Given the description of an element on the screen output the (x, y) to click on. 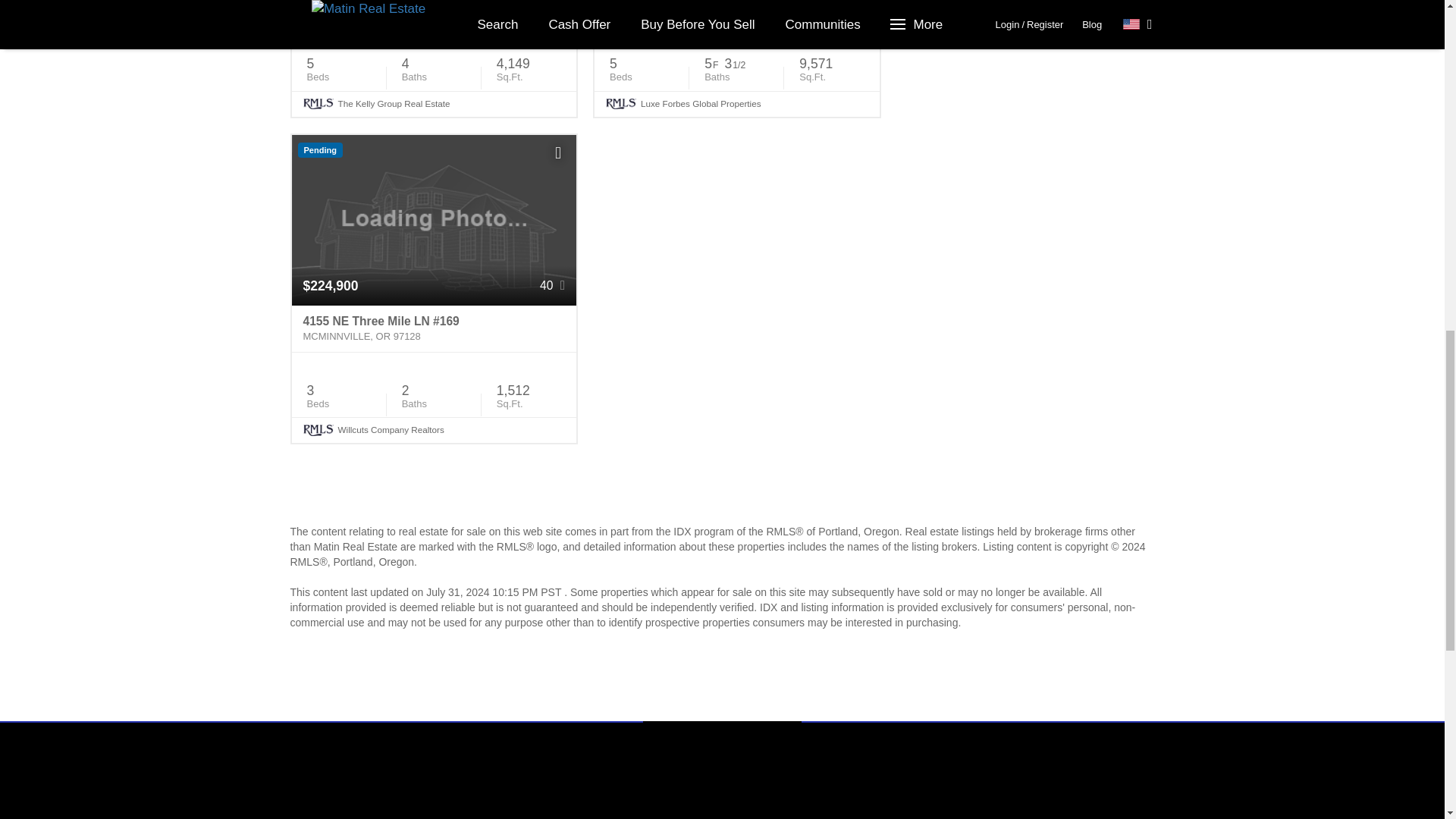
33280 NE Haugen RD Newberg,  OR 97132 (433, 12)
13380 NE Parrett Mountain RD Newberg,  OR 97132 (736, 12)
